Given the description of an element on the screen output the (x, y) to click on. 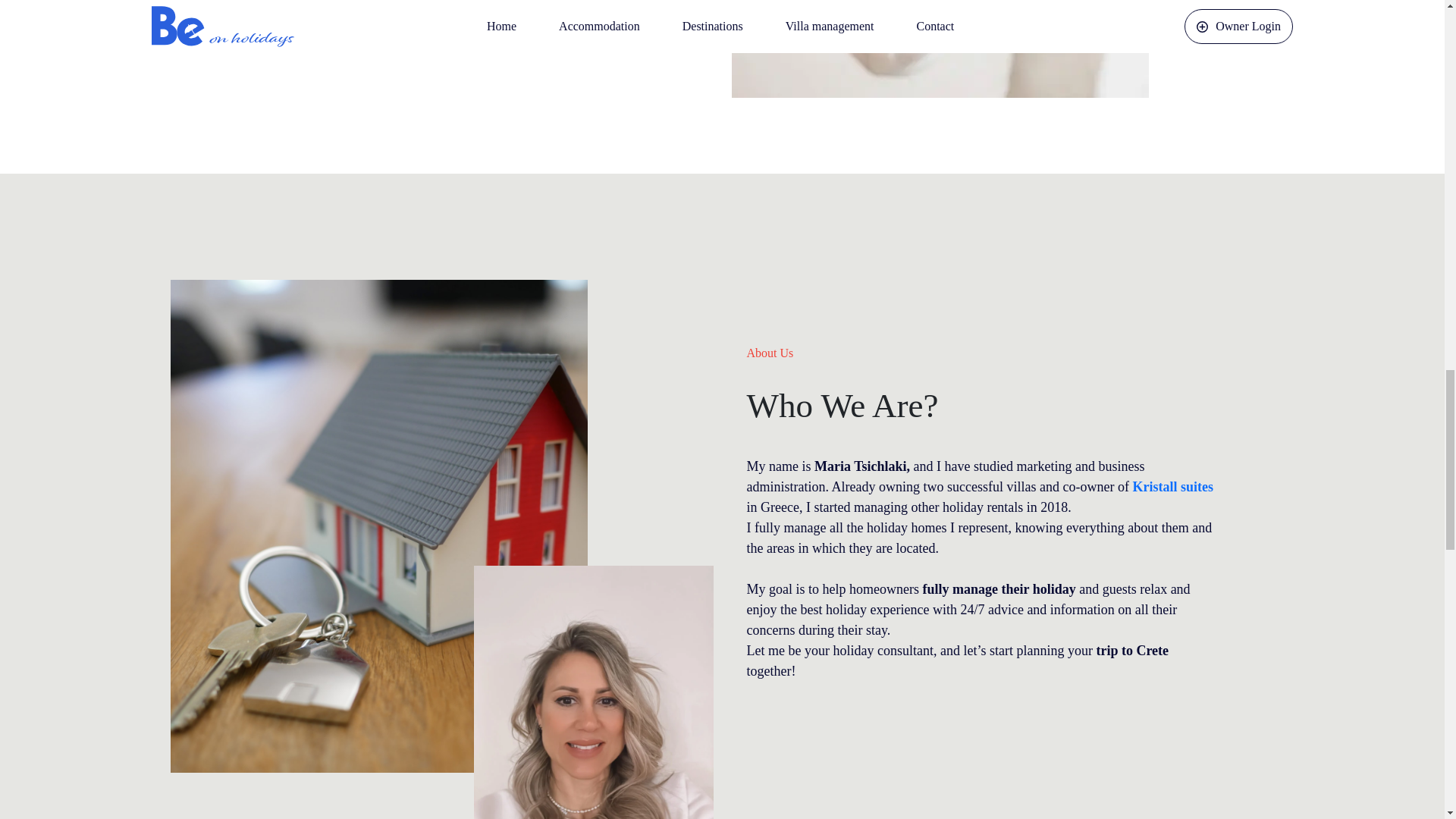
Kristall suites (1172, 486)
List Your Property (464, 4)
